Given the description of an element on the screen output the (x, y) to click on. 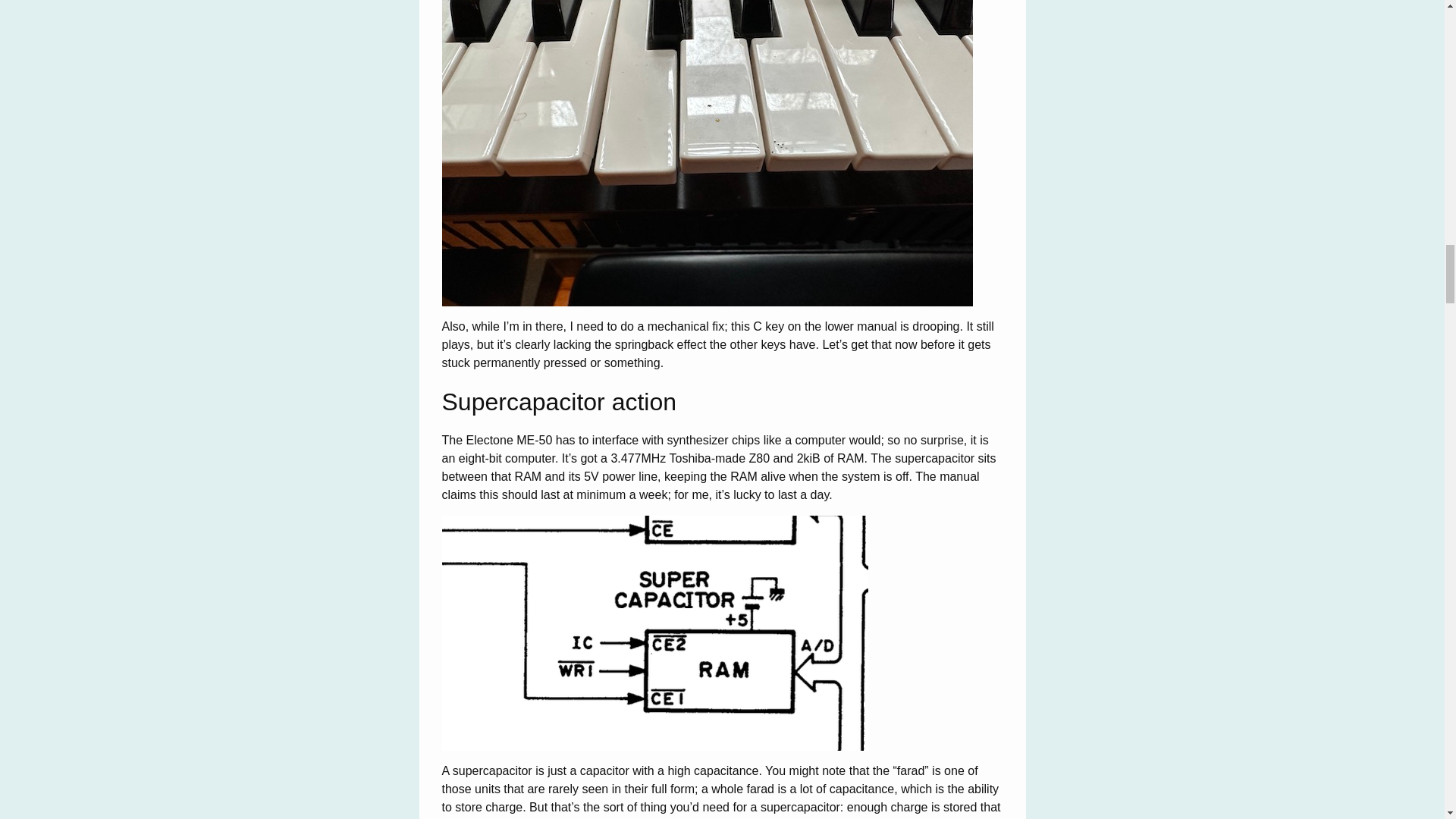
Did you need this screenshot? Probably not (654, 633)
